Given the description of an element on the screen output the (x, y) to click on. 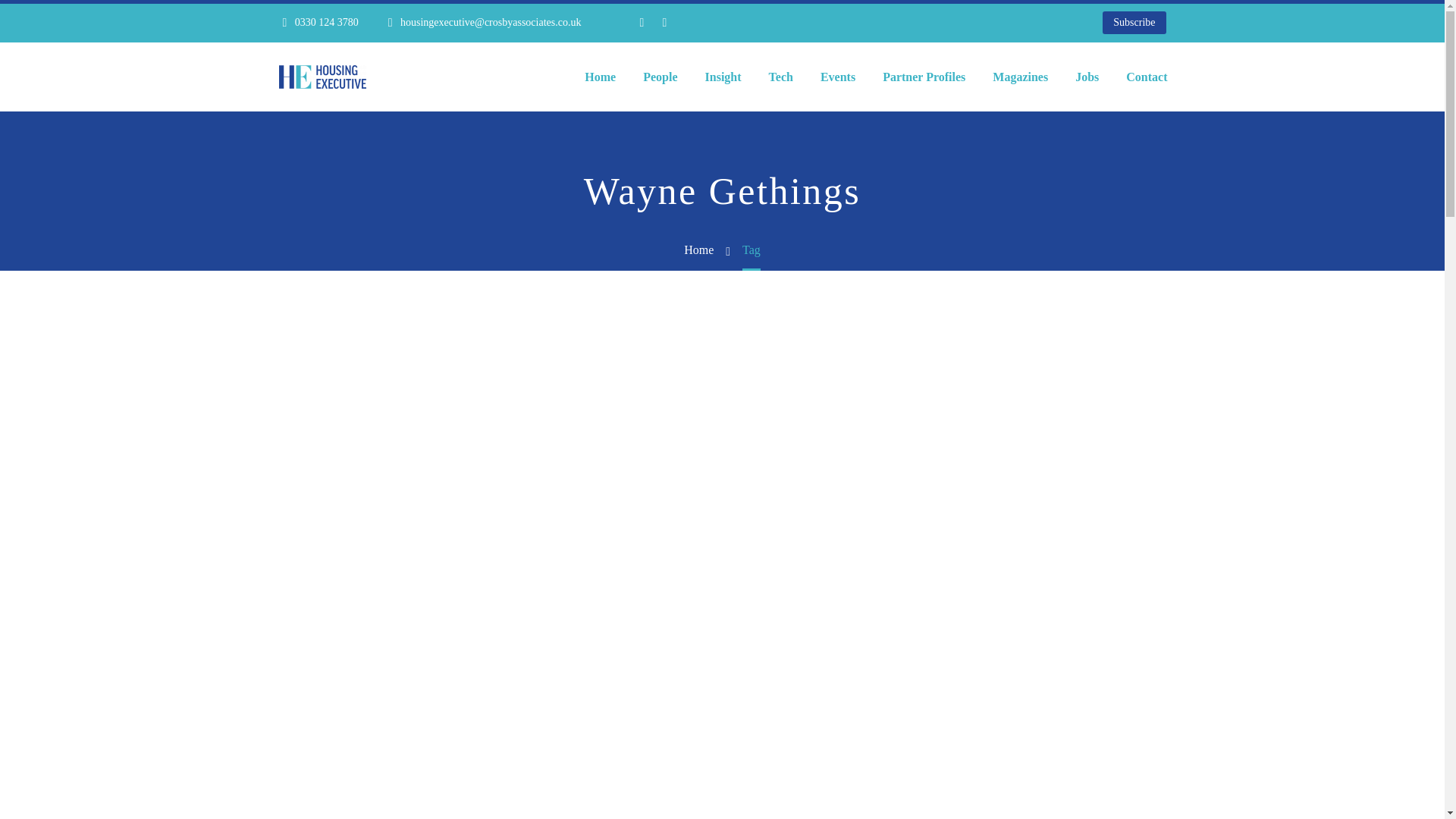
0330 124 3780 (326, 21)
Home (600, 76)
Subscribe (1134, 22)
Tech (781, 76)
People (659, 76)
Magazines (1020, 76)
Events (837, 76)
Jobs (1086, 76)
Contact (1146, 76)
Insight (723, 76)
